Given the description of an element on the screen output the (x, y) to click on. 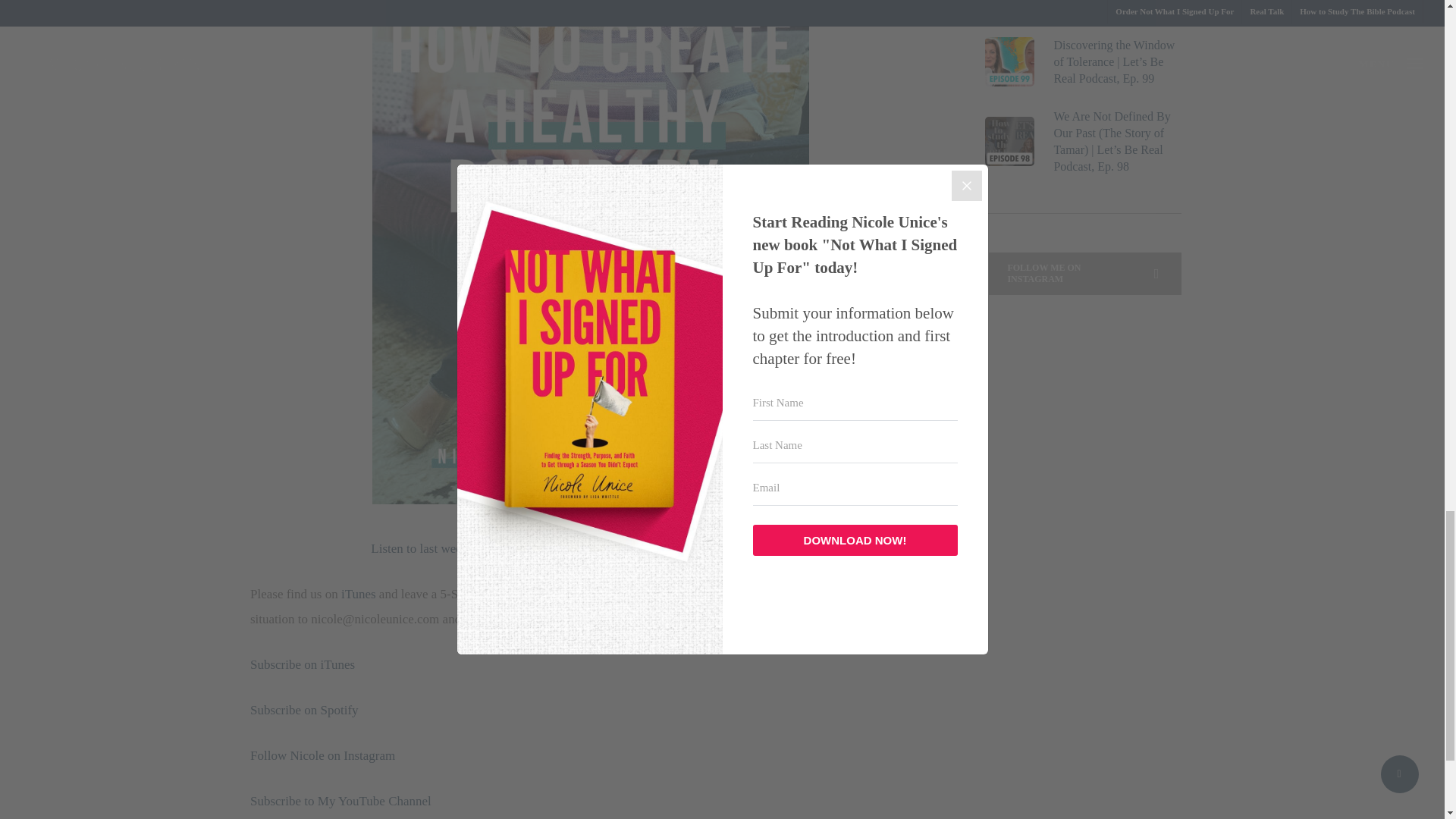
Subscribe on Spotify (304, 709)
iTunes (357, 594)
FOLLOW ME ON INSTAGRAM (1084, 273)
Subscribe to My YouTube Channel (340, 800)
Subscribe on iTunes (302, 664)
Follow Nicole on Instagram  (323, 755)
